Given the description of an element on the screen output the (x, y) to click on. 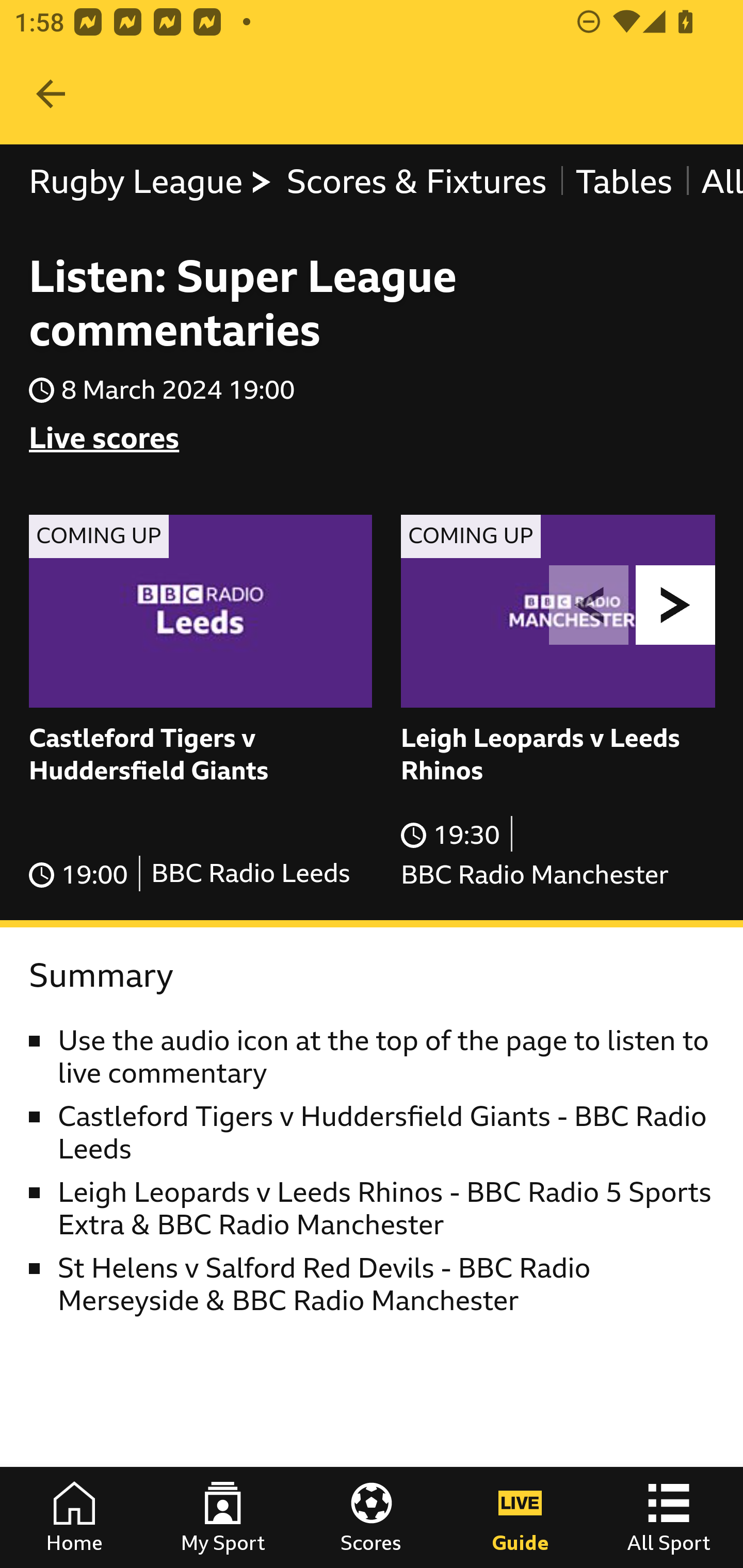
Navigate up (50, 93)
Rugby League  (150, 181)
Scores & Fixtures (416, 181)
Tables (623, 181)
Live scores (104, 438)
previous (589, 605)
next (676, 605)
Home (74, 1517)
My Sport (222, 1517)
Scores (371, 1517)
All Sport (668, 1517)
